Given the description of an element on the screen output the (x, y) to click on. 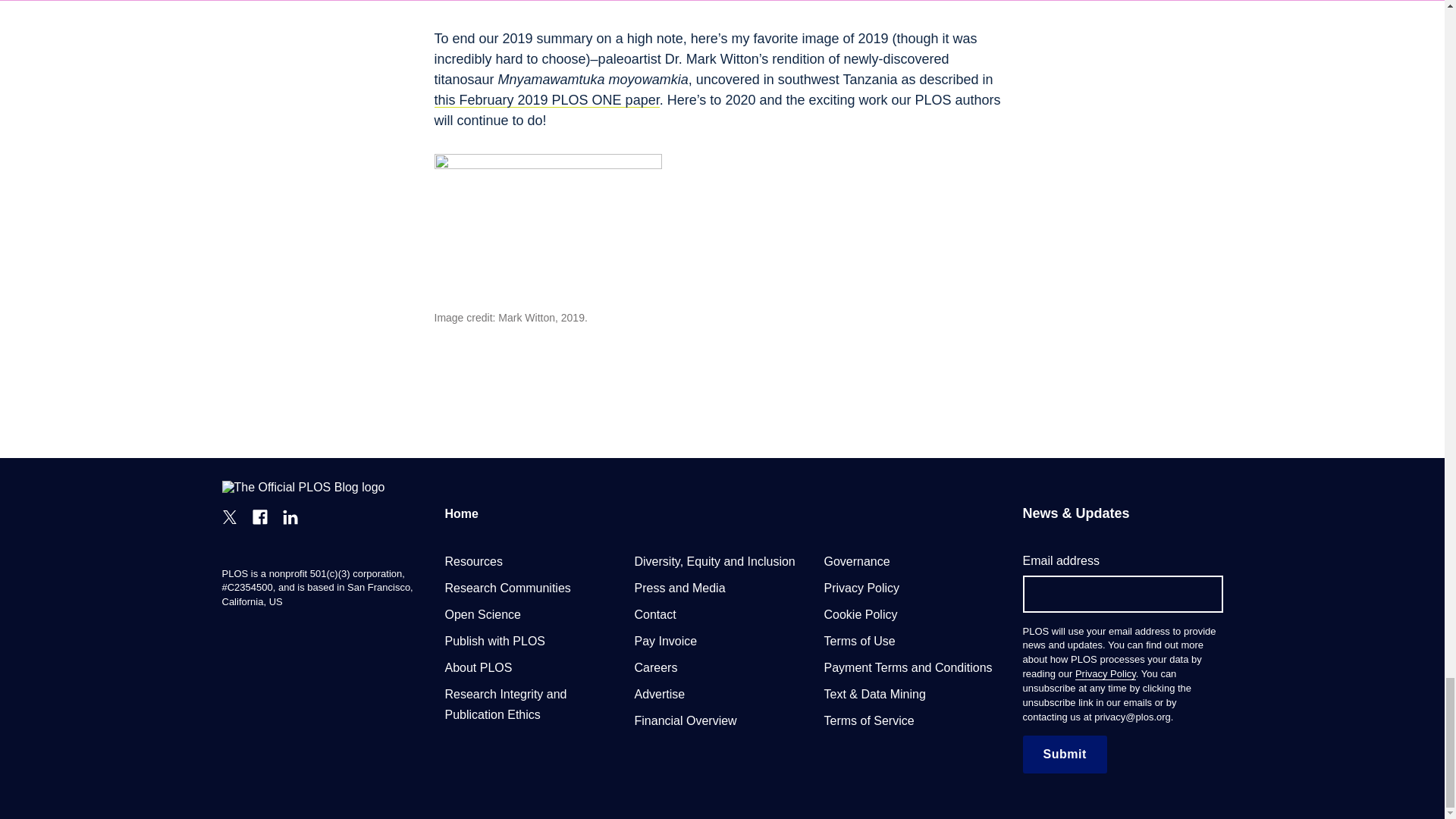
Submit (1064, 754)
